Given the description of an element on the screen output the (x, y) to click on. 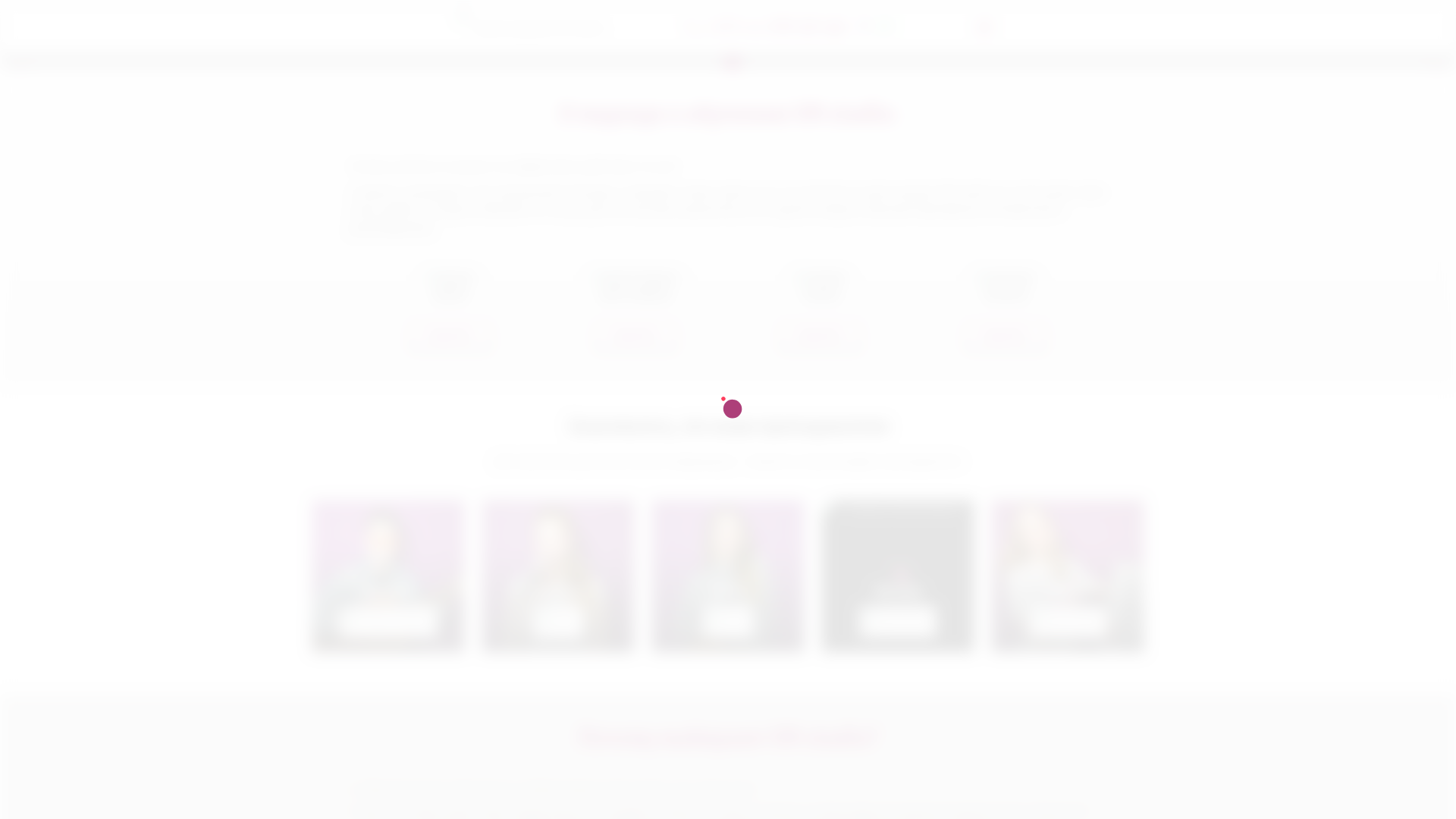
+375 44 777-37-40 Element type: text (775, 27)
Instagram Element type: text (984, 27)
